Given the description of an element on the screen output the (x, y) to click on. 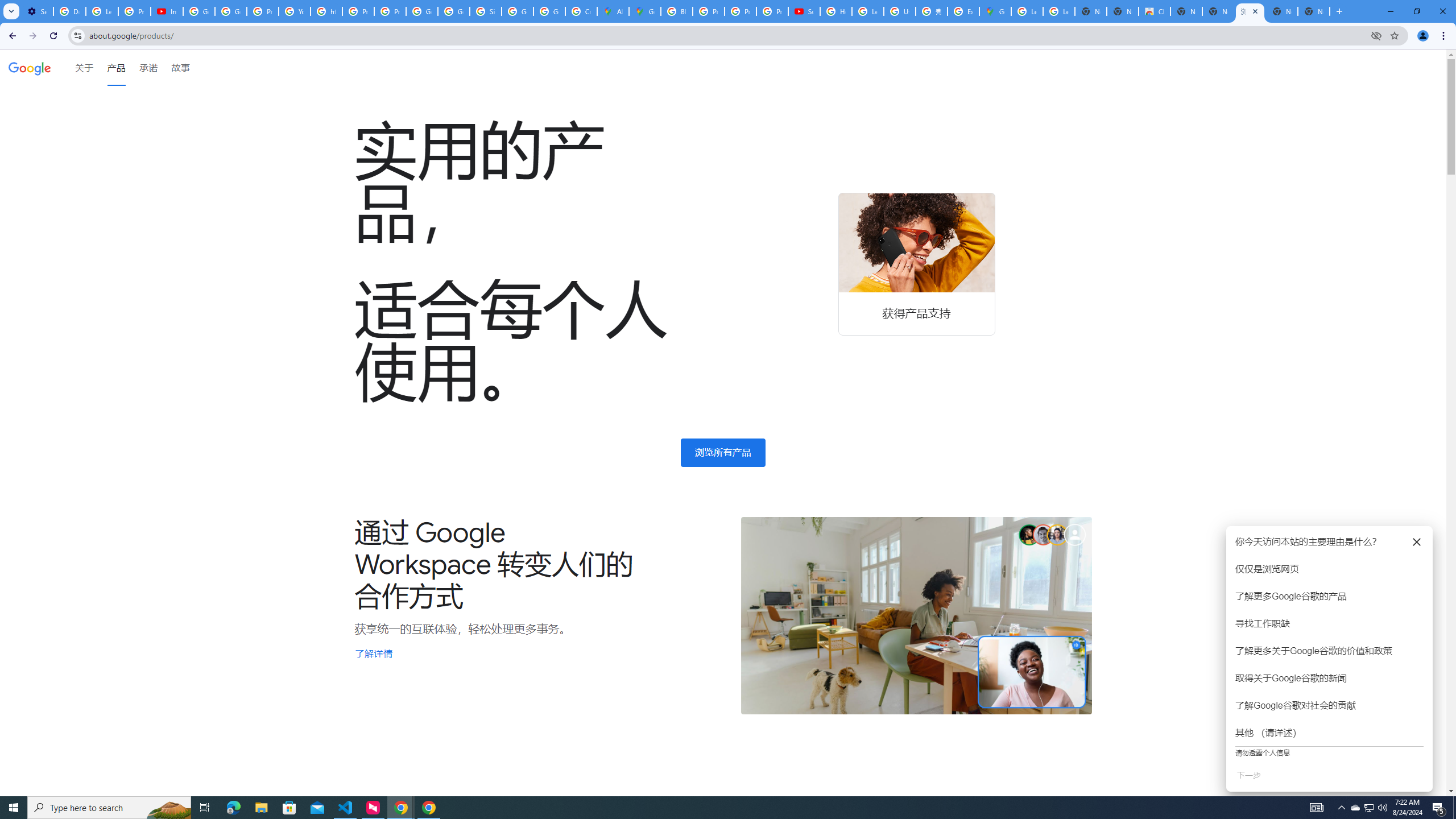
Settings - Customize profile (37, 11)
Google Maps (644, 11)
Google Maps (995, 11)
